Given the description of an element on the screen output the (x, y) to click on. 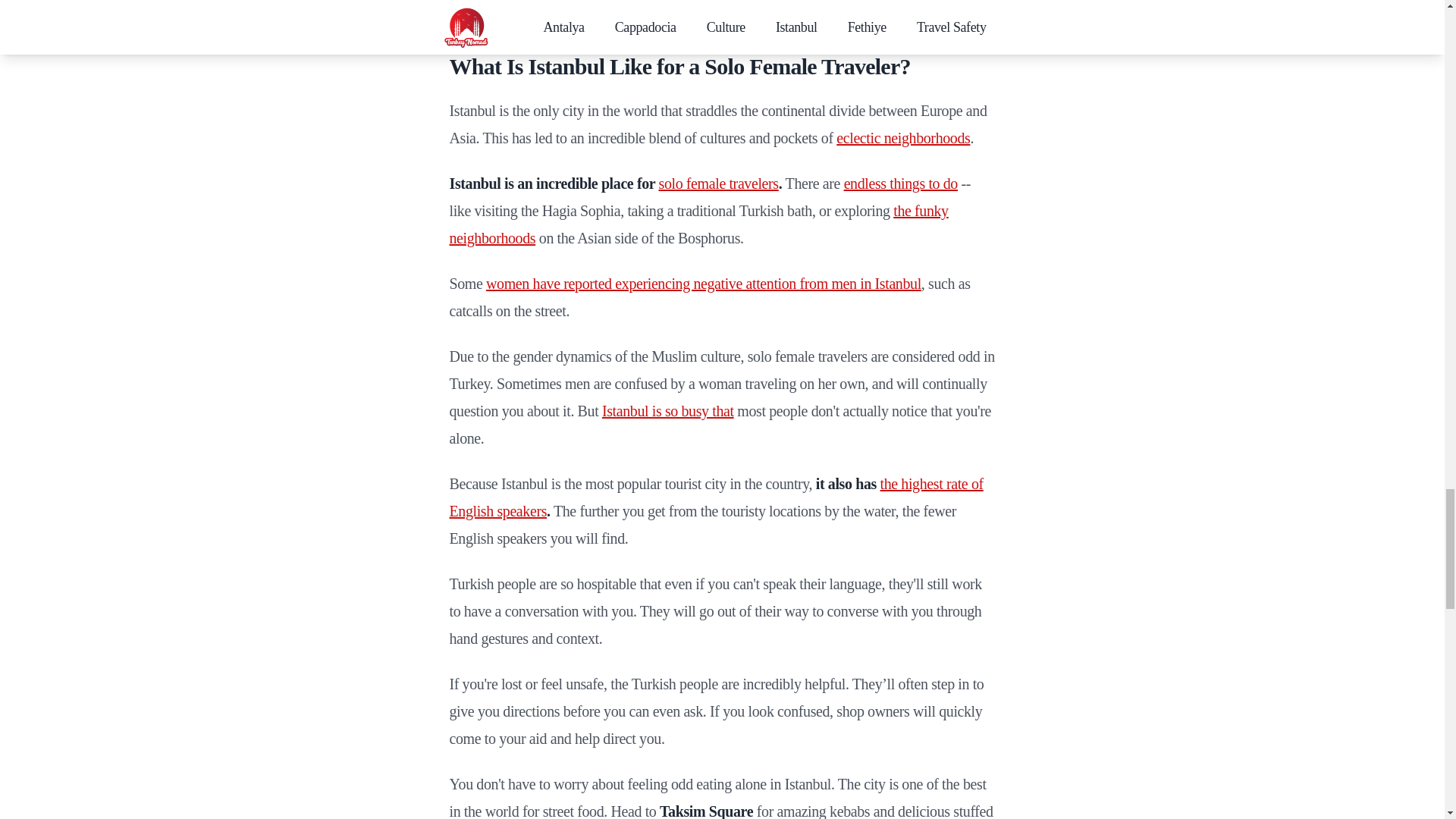
eclectic neighborhoods (902, 137)
